Given the description of an element on the screen output the (x, y) to click on. 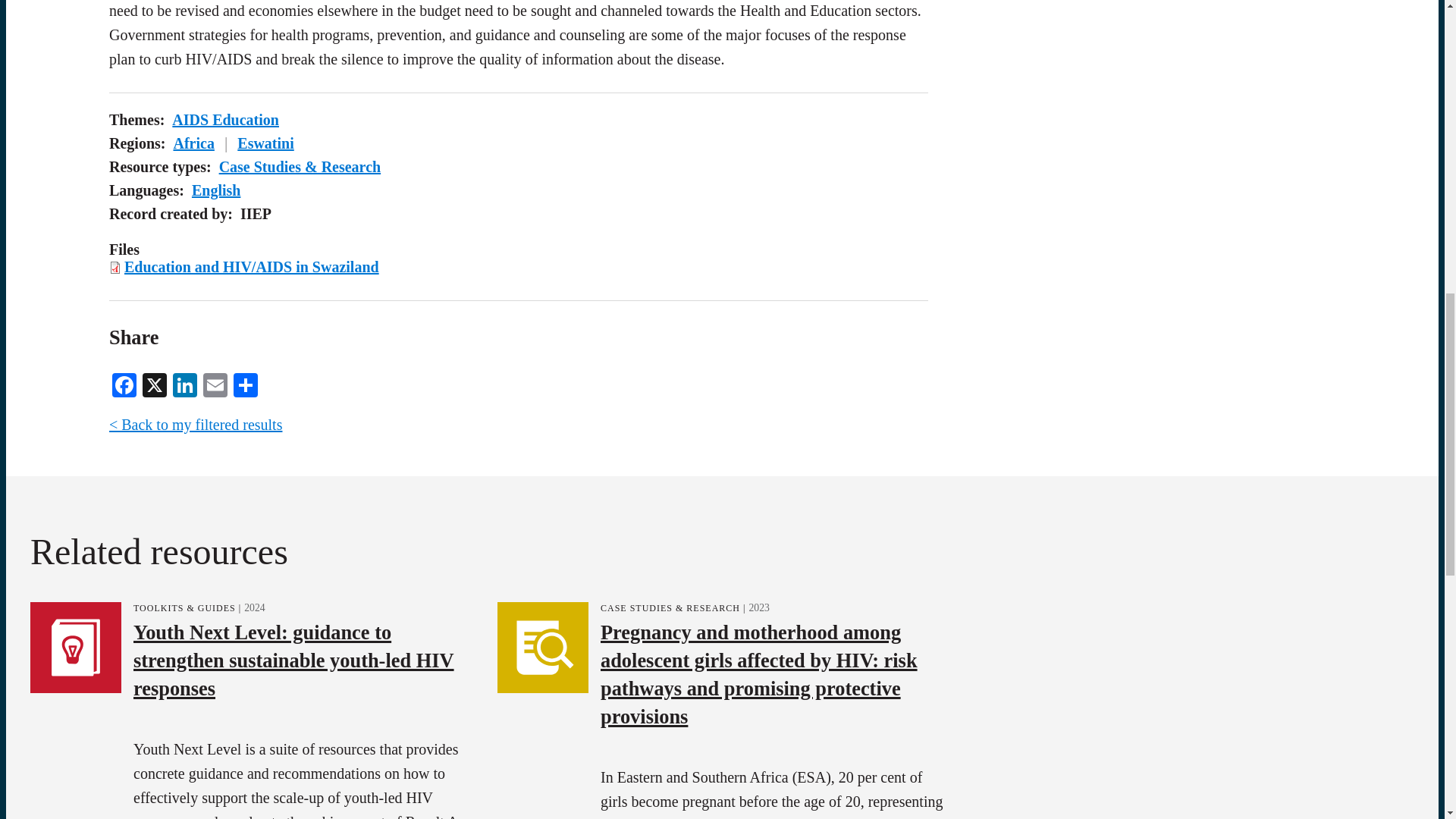
Email (215, 383)
Share (245, 383)
LinkedIn (185, 383)
X (154, 383)
123 Dlamini.pdf (250, 266)
Facebook (124, 383)
Eswatini (265, 143)
English (216, 190)
AIDS Education (225, 119)
Africa (193, 143)
